Given the description of an element on the screen output the (x, y) to click on. 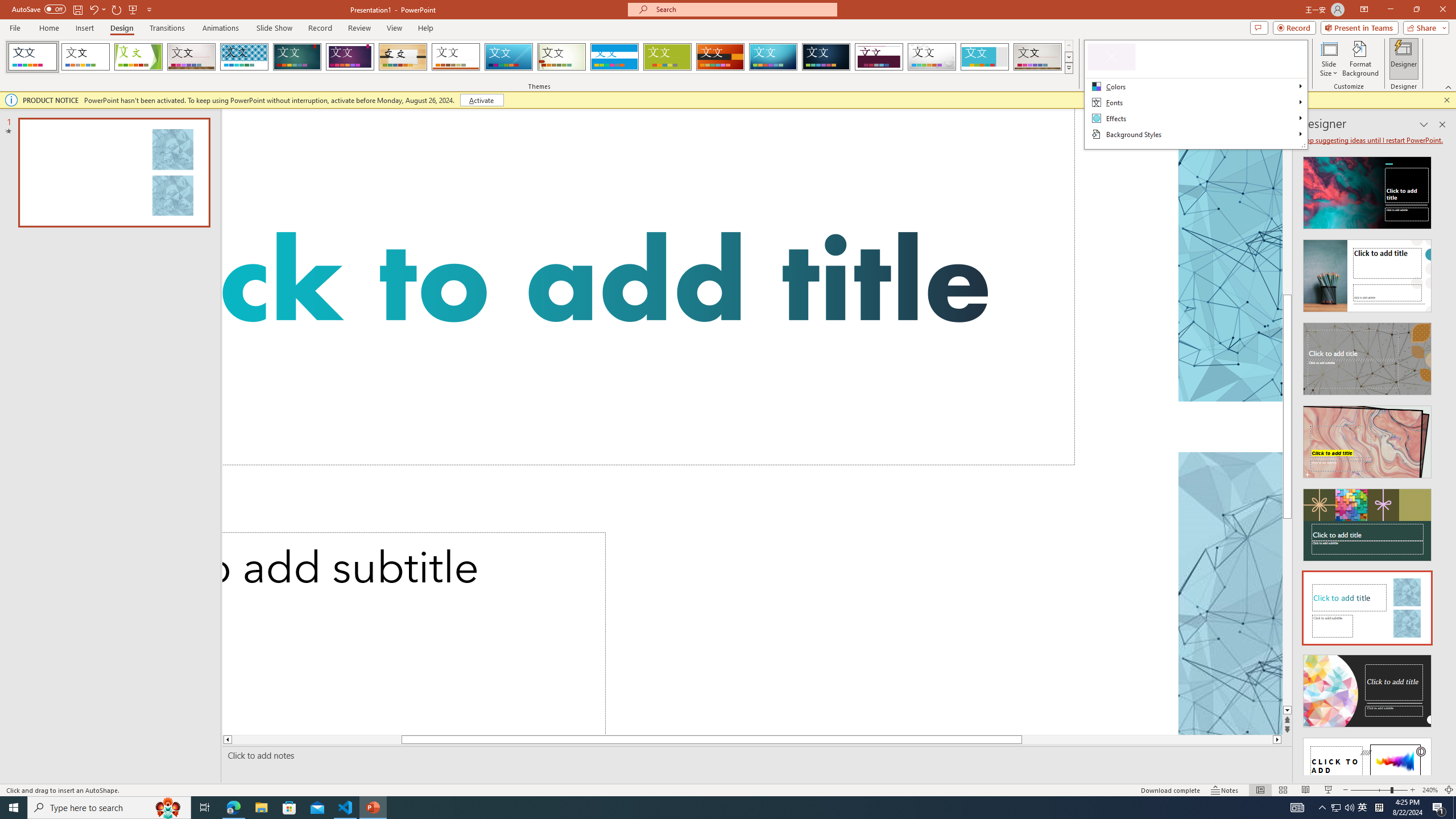
Organic (403, 56)
Circuit (772, 56)
Retrospect (455, 56)
Download complete  (1171, 790)
Berlin (720, 56)
Damask (826, 56)
